Given the description of an element on the screen output the (x, y) to click on. 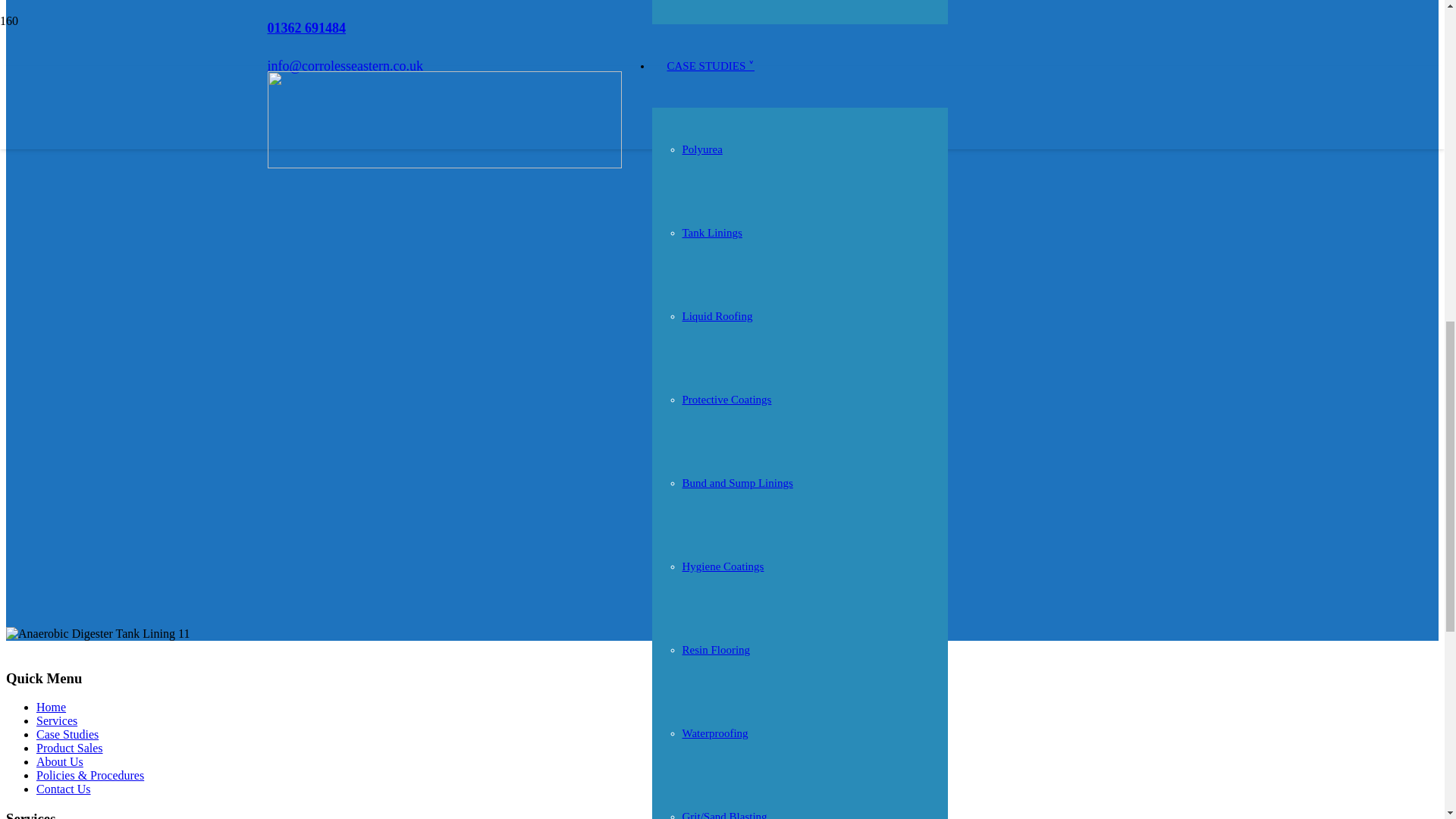
High Pressure Jettings (733, 80)
Concrete Repair (719, 164)
Rust Stabilisers (718, 331)
